Given the description of an element on the screen output the (x, y) to click on. 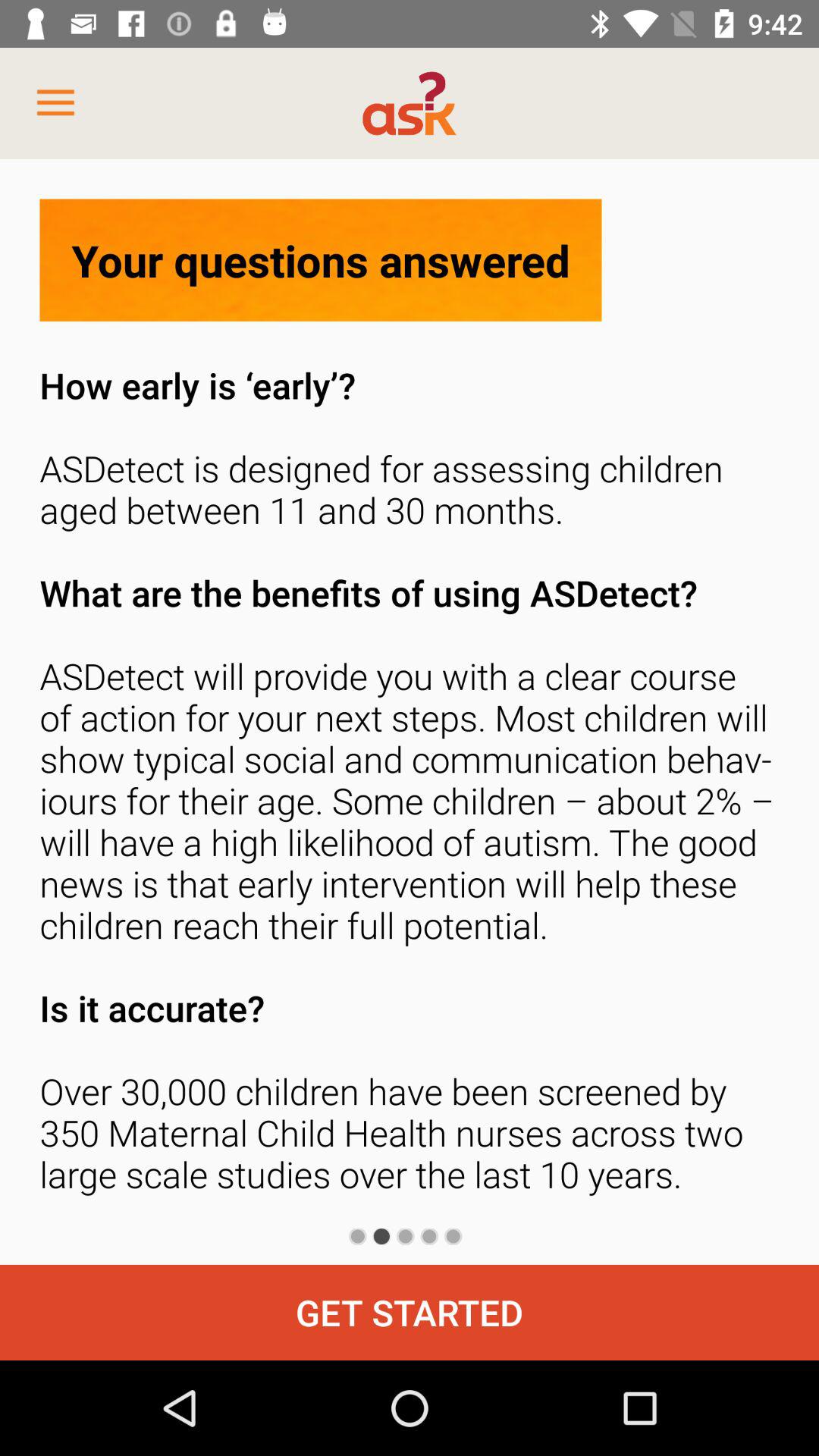
swipe until the get started icon (409, 1312)
